Given the description of an element on the screen output the (x, y) to click on. 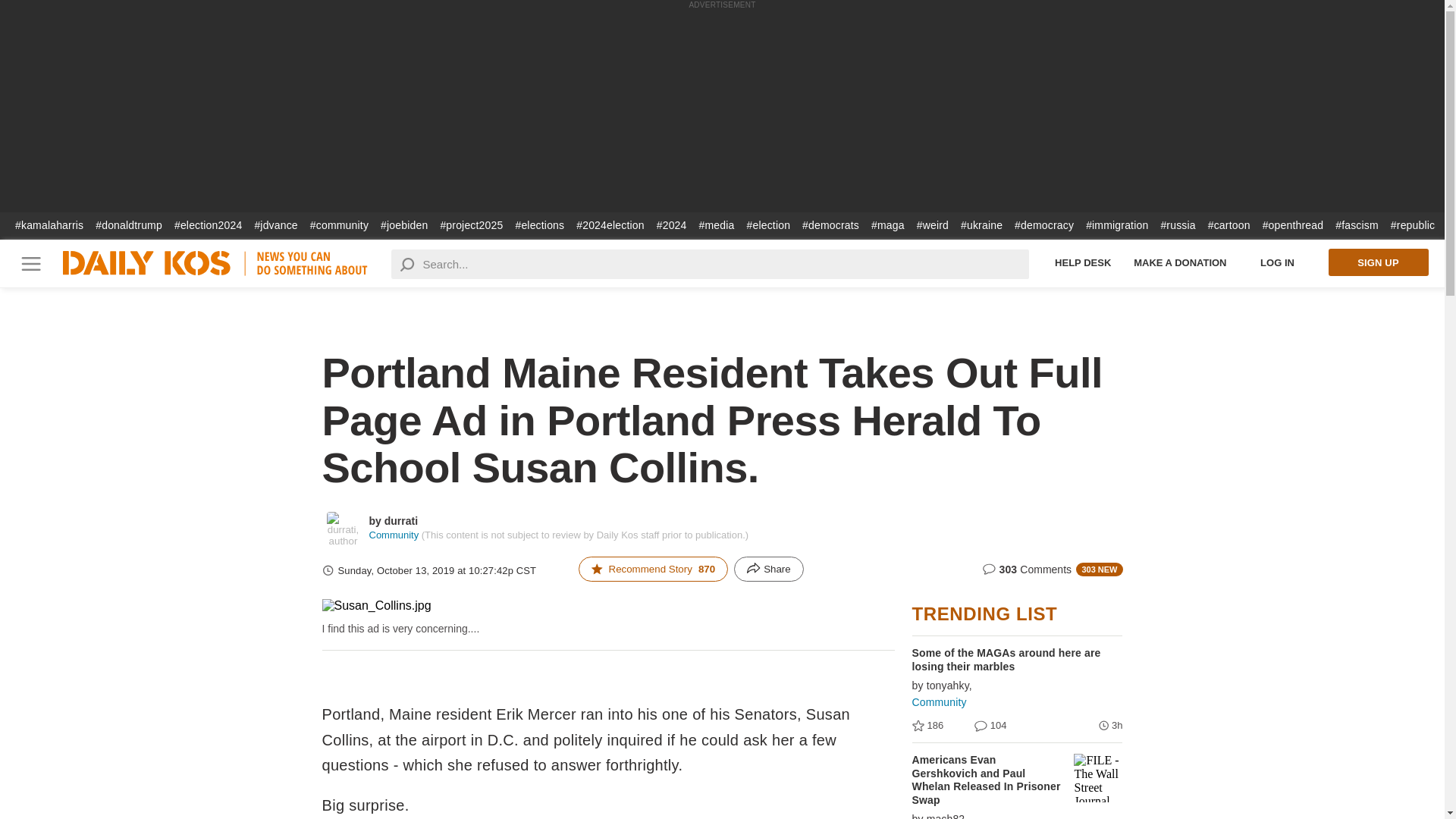
Make a Donation (1179, 262)
Help Desk (1082, 262)
MAKE A DONATION (1179, 262)
